Given the description of an element on the screen output the (x, y) to click on. 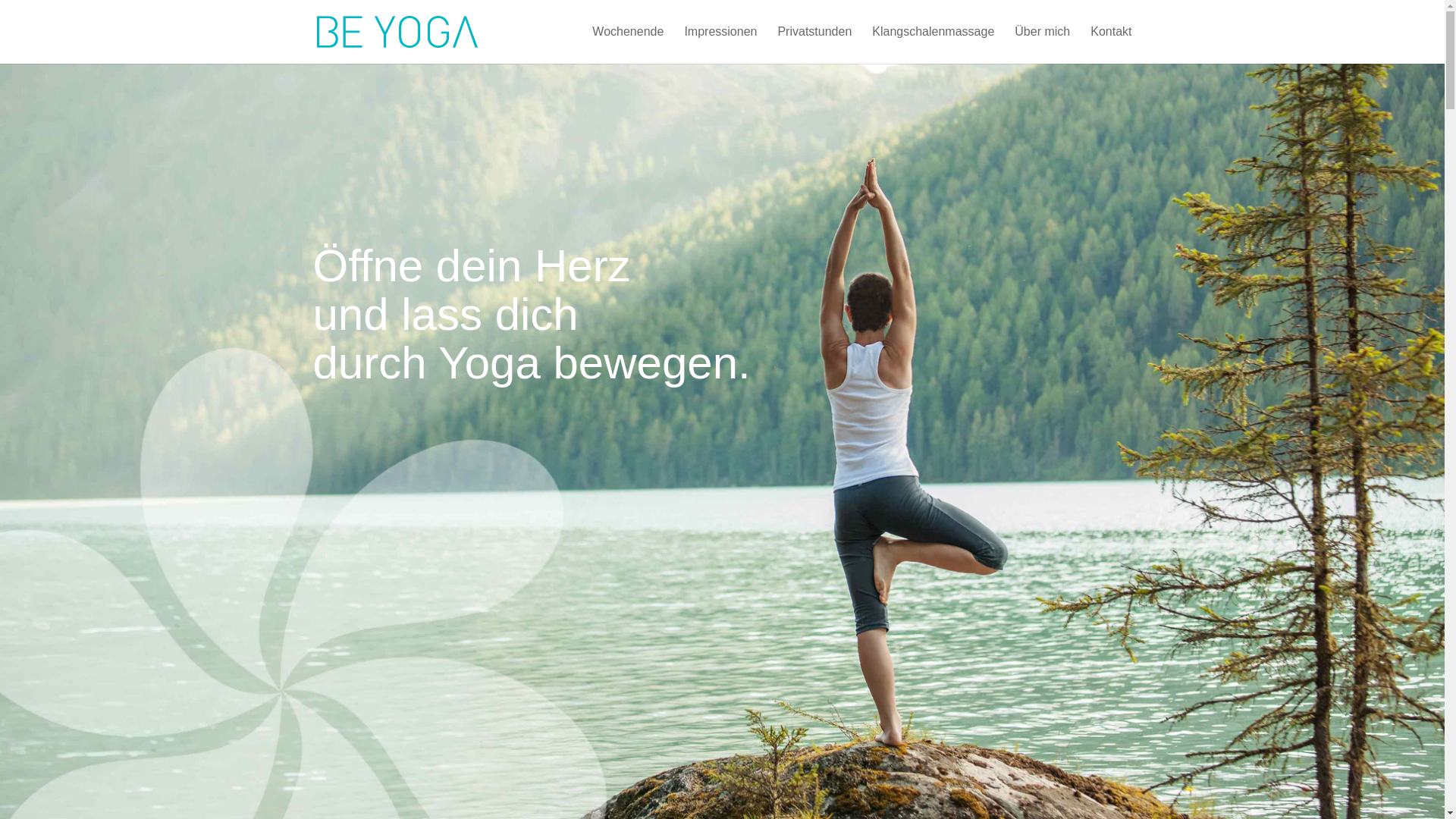
Kontakt Element type: text (1110, 44)
Privatstunden Element type: text (814, 44)
Impressionen Element type: text (720, 44)
Wochenende Element type: text (627, 44)
Klangschalenmassage Element type: text (933, 44)
